Given the description of an element on the screen output the (x, y) to click on. 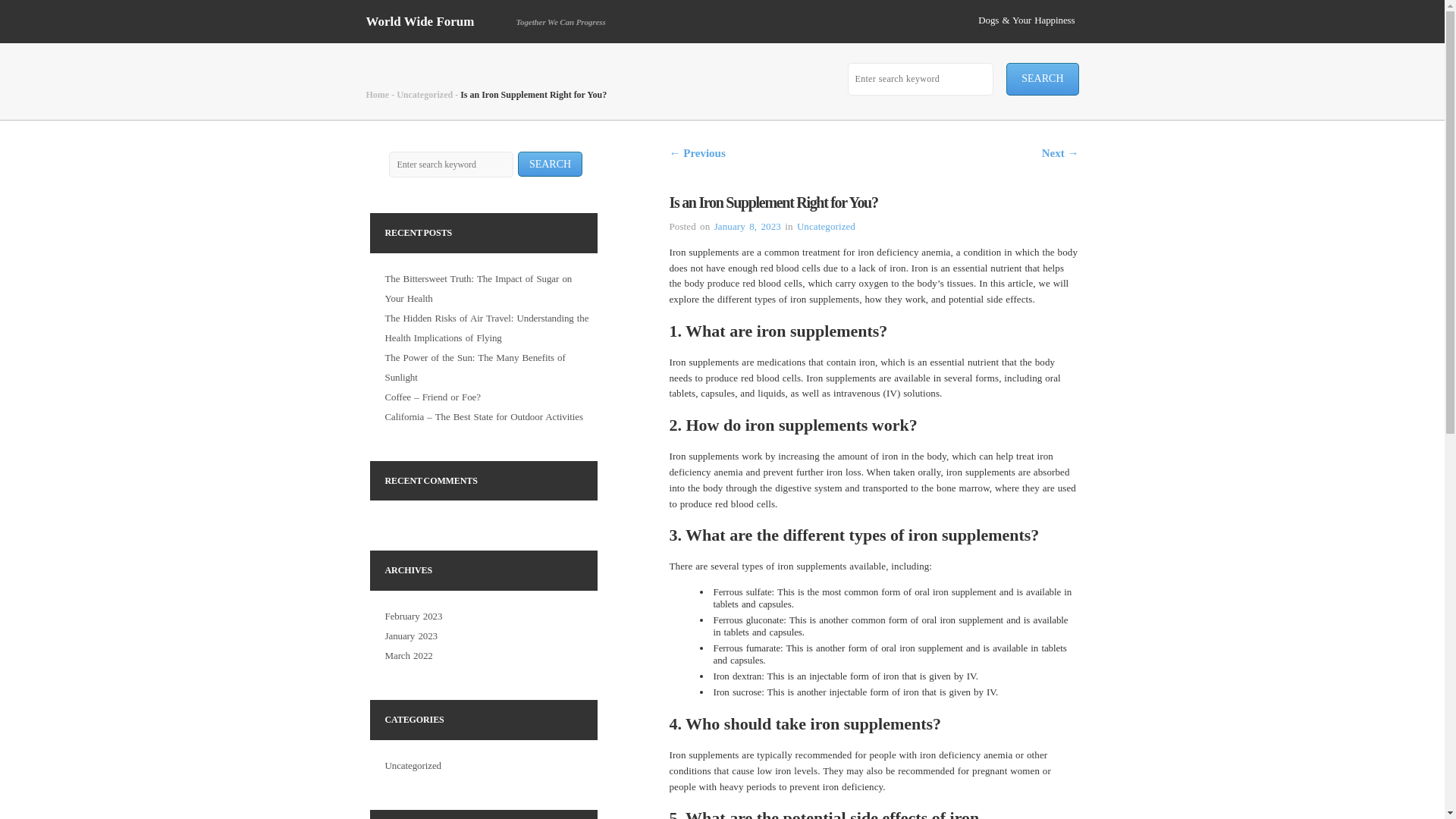
January 2023 (411, 635)
January 8, 2023 (747, 225)
search (1042, 79)
Home (376, 94)
search (548, 163)
The Bittersweet Truth: The Impact of Sugar on Your Health (478, 287)
February 2023 (413, 615)
search (548, 163)
World Wide Forum (419, 21)
search (1042, 79)
